Given the description of an element on the screen output the (x, y) to click on. 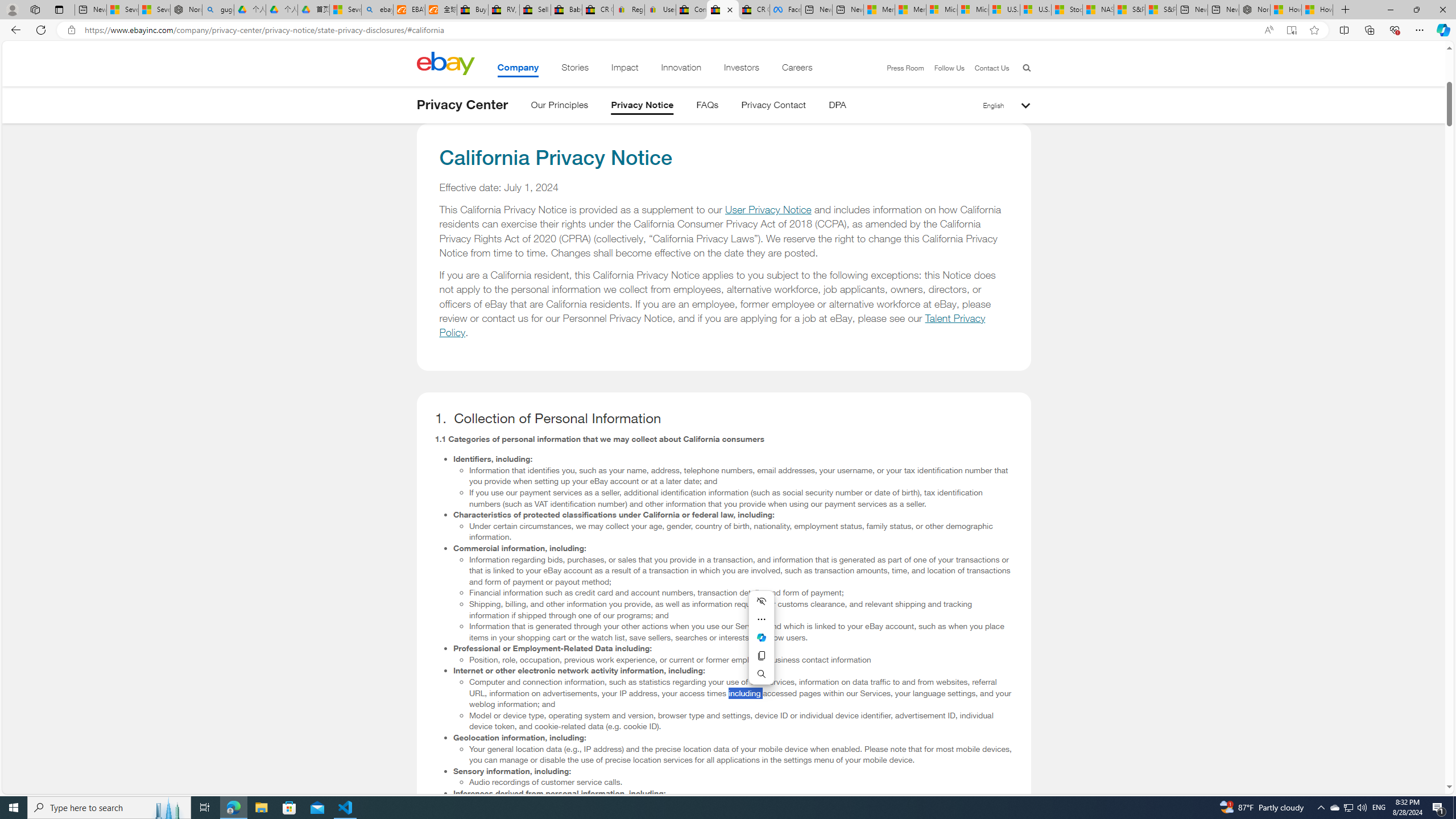
Consumer Health Data Privacy Policy - eBay Inc. (691, 9)
Audio recordings of customer service calls. (740, 781)
Register: Create a personal eBay account (628, 9)
guge yunpan - Search (218, 9)
FAQs (707, 107)
